Given the description of an element on the screen output the (x, y) to click on. 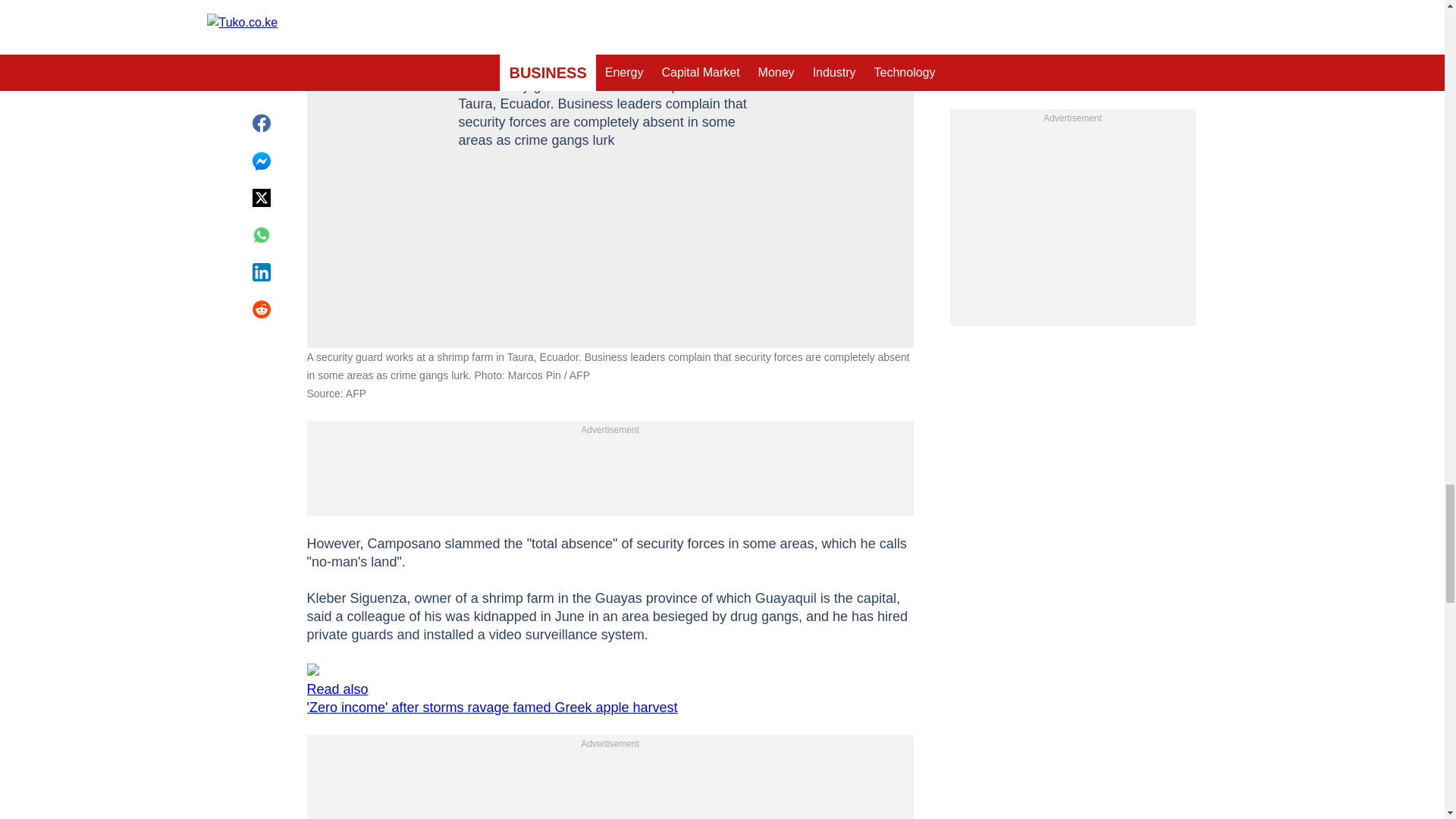
Expand image (895, 24)
